Given the description of an element on the screen output the (x, y) to click on. 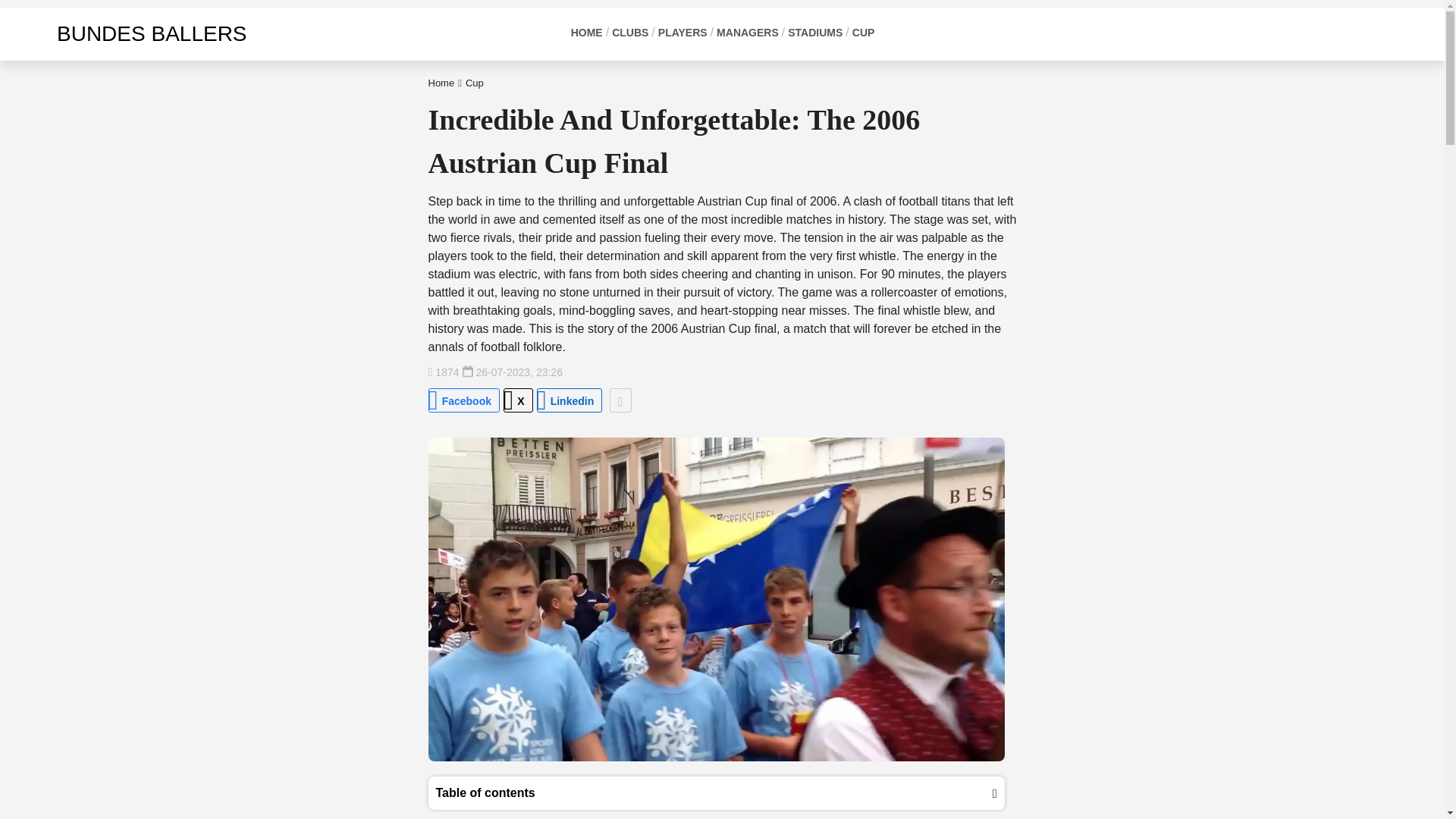
Views (443, 372)
STADIUMS (815, 32)
Share via X (517, 400)
Share via Facebook (463, 400)
Home (441, 82)
Share via Linkedin (569, 400)
MANAGERS (747, 32)
PLAYERS (682, 32)
Cup (474, 82)
BUNDES BALLERS (130, 33)
